Given the description of an element on the screen output the (x, y) to click on. 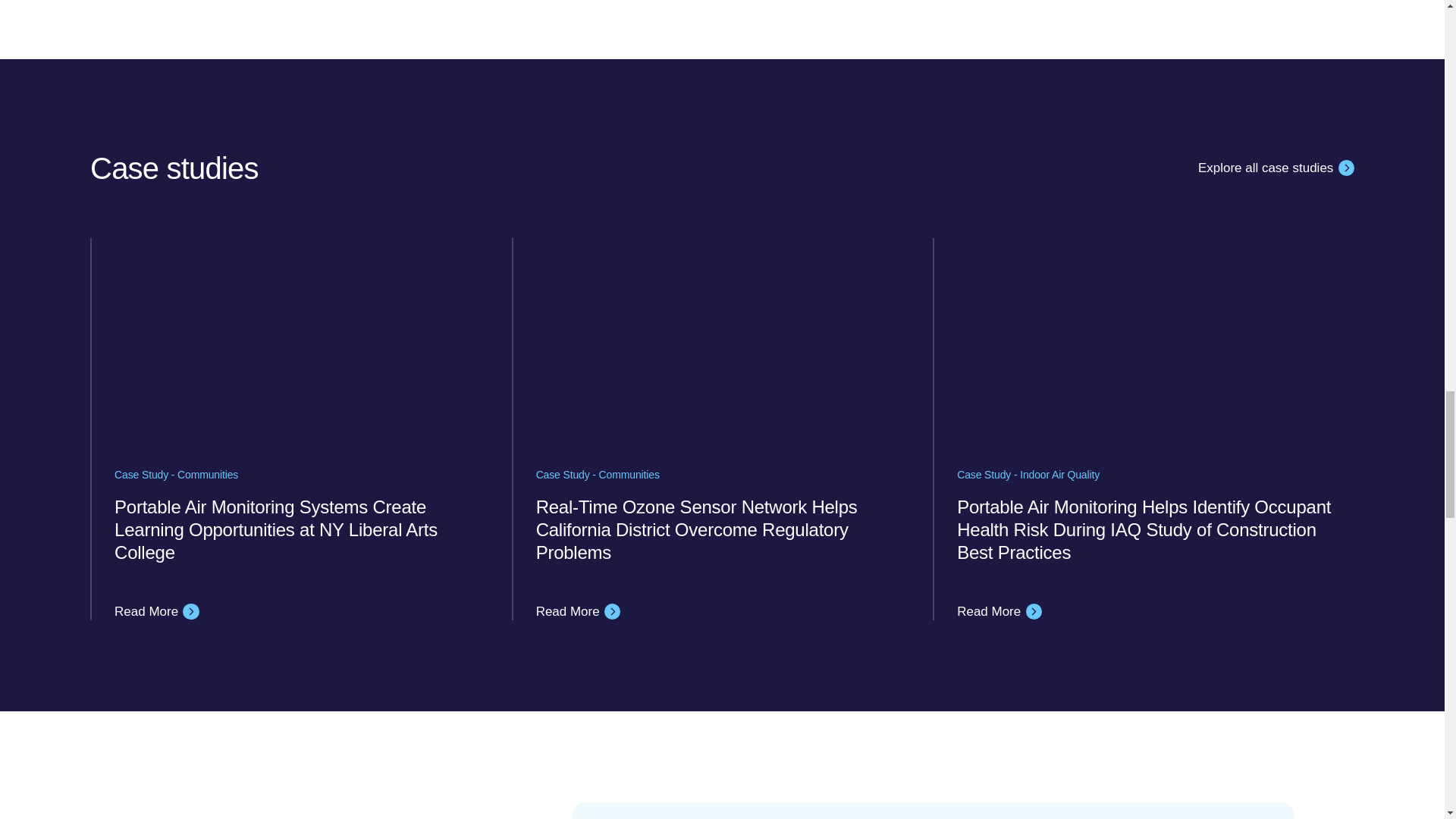
Explore all case studies (1276, 167)
